Given the description of an element on the screen output the (x, y) to click on. 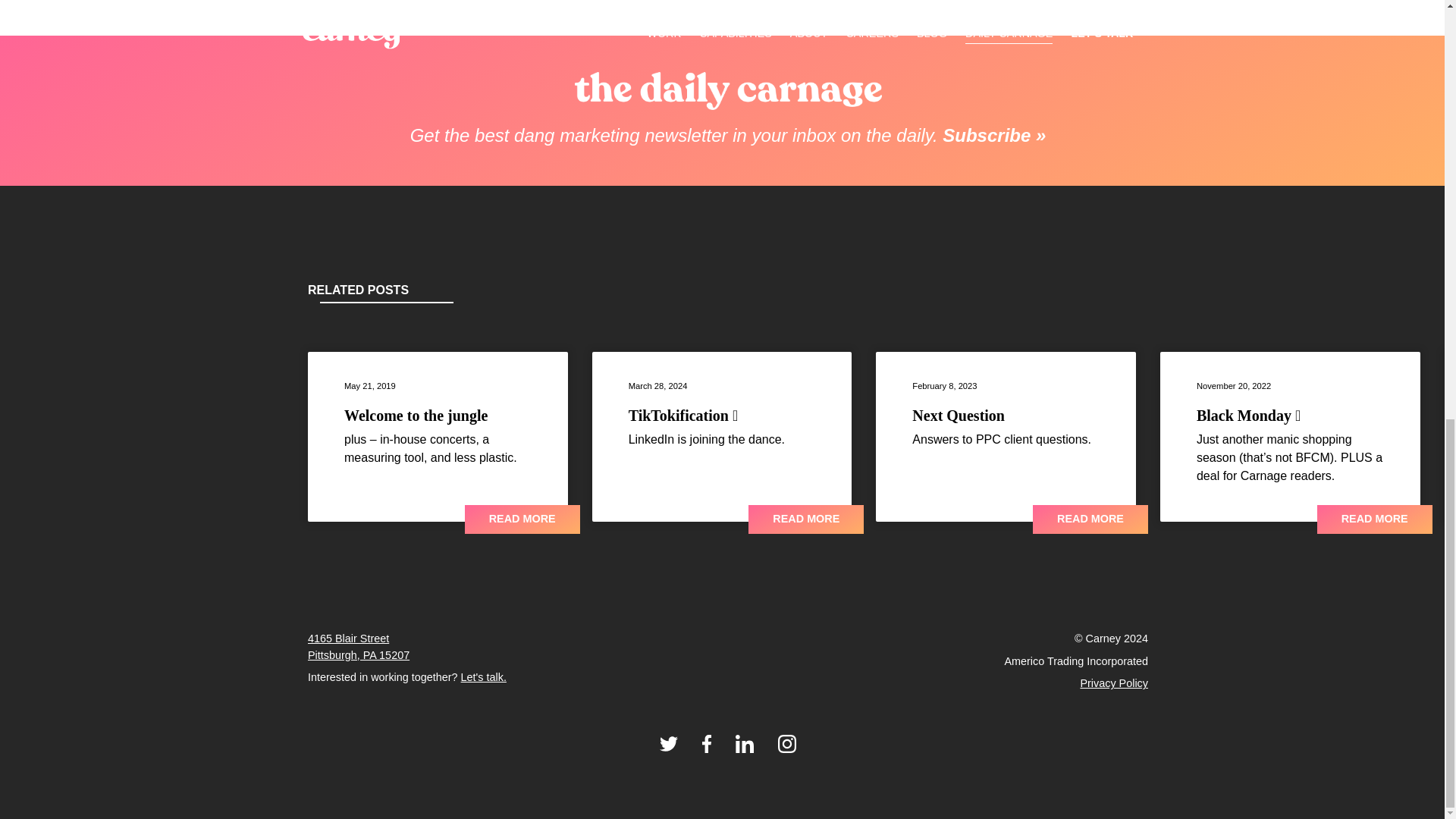
READ MORE (1374, 520)
Welcome to the jungle (415, 415)
READ MORE (805, 520)
Let's talk. (483, 676)
READ MORE (521, 520)
READ MORE (1090, 520)
Privacy Policy (358, 646)
Next Question (1114, 683)
